Given the description of an element on the screen output the (x, y) to click on. 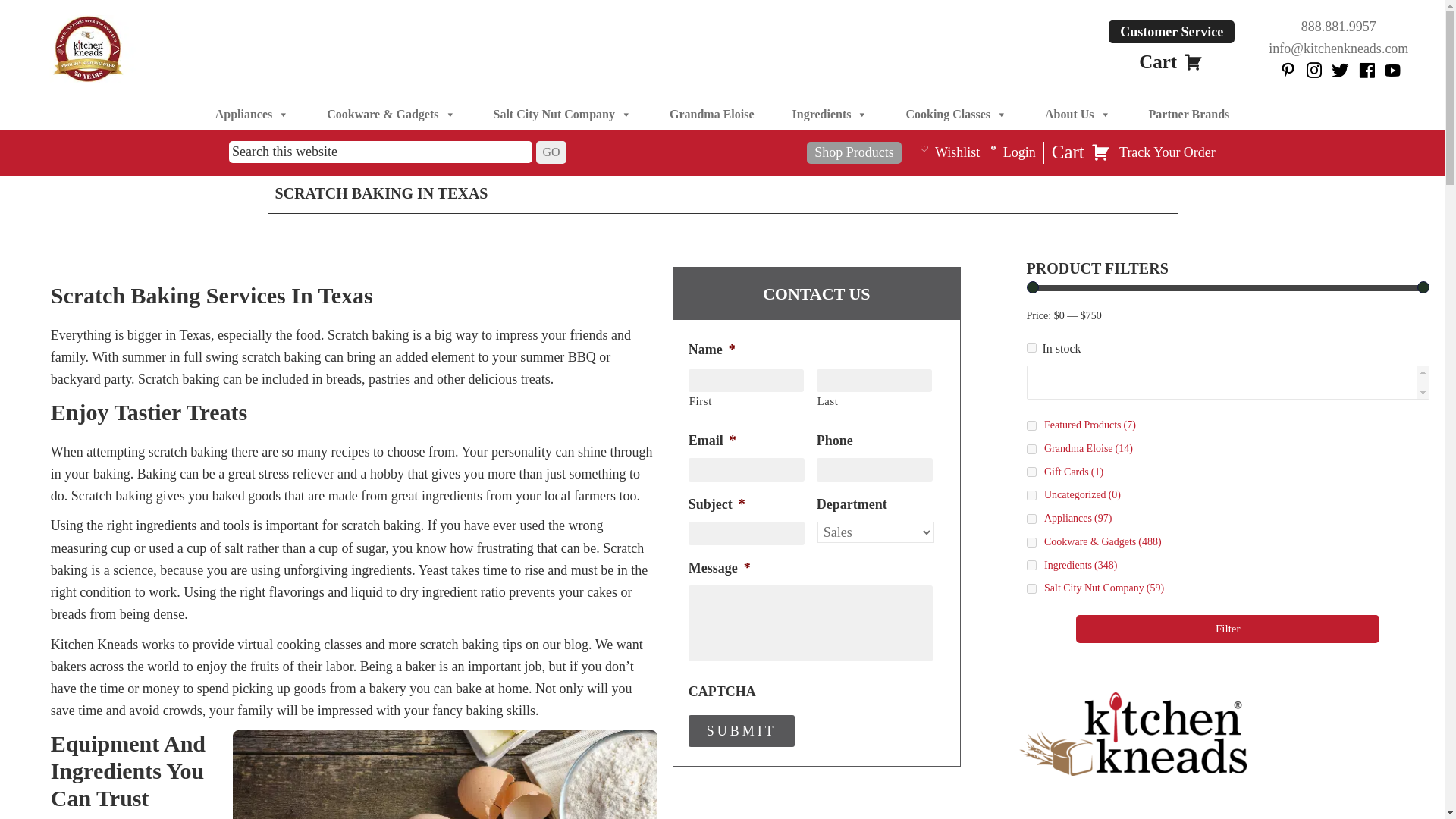
890 (1031, 588)
3654 (1031, 471)
Submit (741, 730)
Cooking Classes (956, 114)
243 (1031, 565)
Facebook (1286, 70)
0 (1031, 347)
scratch baking in ohio eggs (445, 740)
Cart (1171, 61)
162 (1031, 542)
3688 (1031, 425)
36 (1031, 519)
go (550, 151)
Grandma Eloise (711, 114)
Instagram (1312, 70)
